Given the description of an element on the screen output the (x, y) to click on. 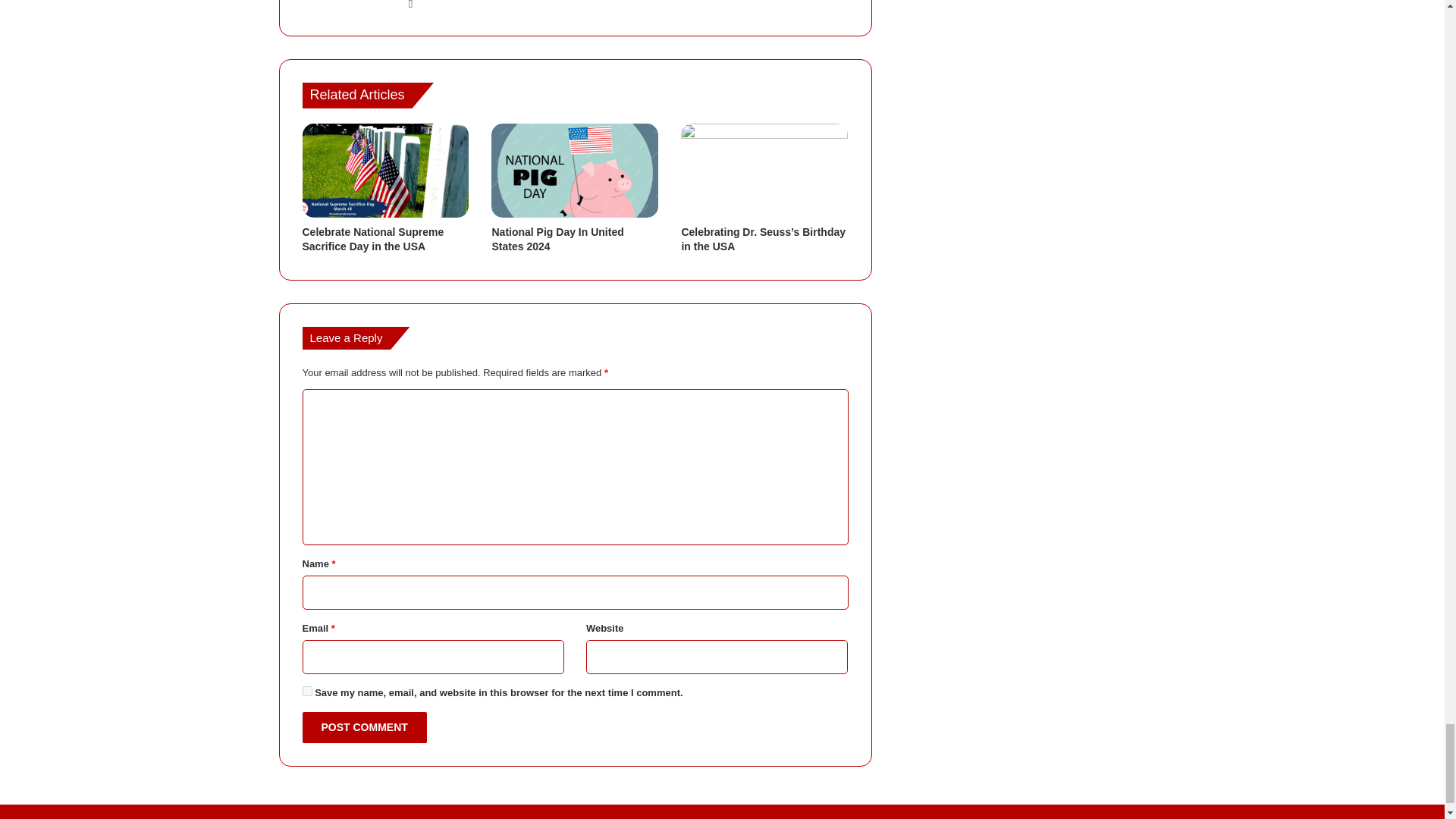
yes (306, 691)
Post Comment (363, 726)
